Given the description of an element on the screen output the (x, y) to click on. 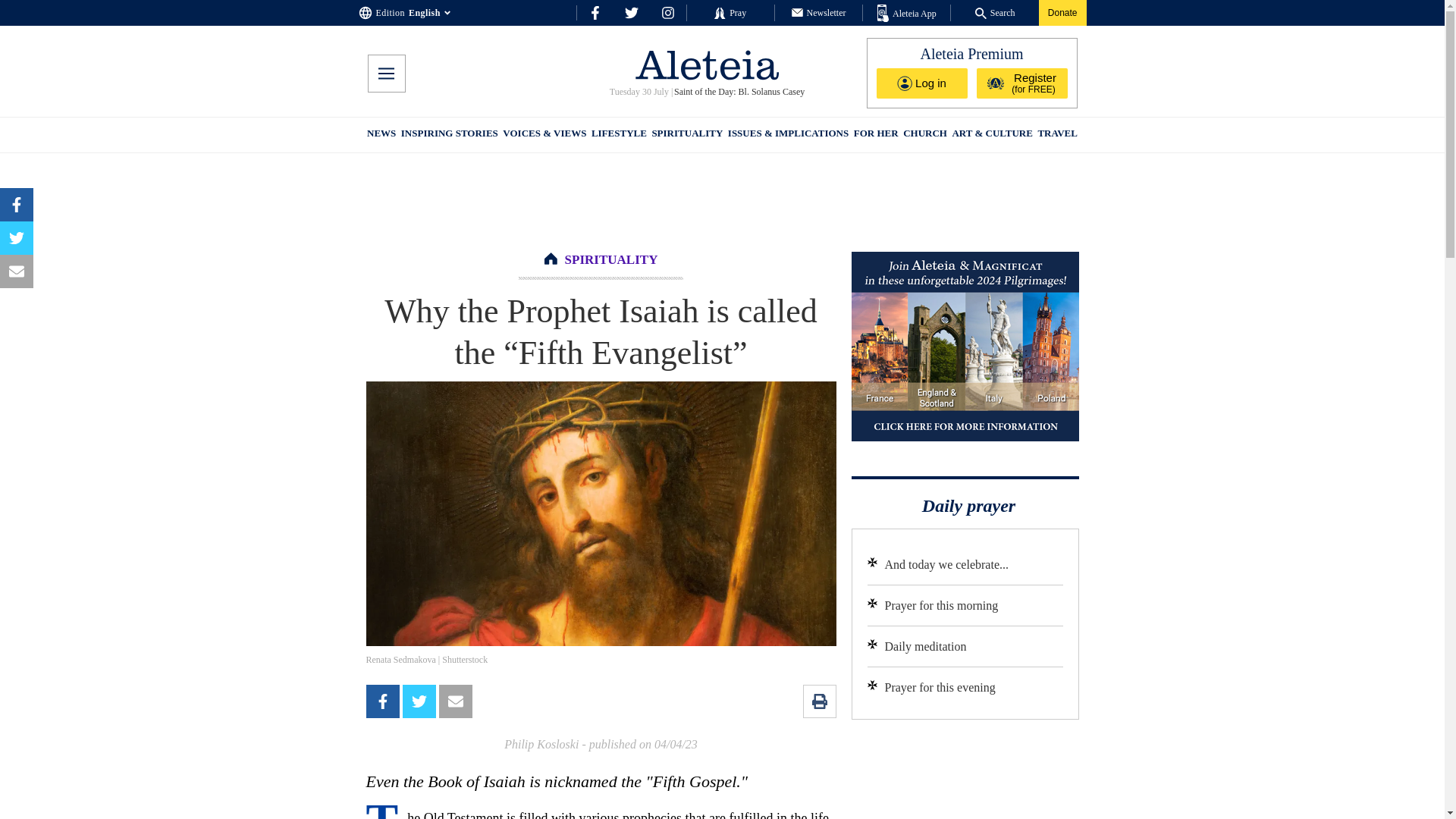
LIFESTYLE (618, 134)
Pray (729, 12)
SPIRITUALITY (611, 259)
social-fb-top-row (595, 12)
logo-header (706, 64)
Newsletter (818, 12)
Saint of the Day: Bl. Solanus Casey (738, 91)
INSPIRING STORIES (449, 134)
social-tw-top-row (631, 12)
Search (994, 12)
TRAVEL (1056, 134)
mobile-menu-btn (385, 73)
Philip Kosloski (540, 744)
FOR HER (875, 134)
SPIRITUALITY (686, 134)
